Given the description of an element on the screen output the (x, y) to click on. 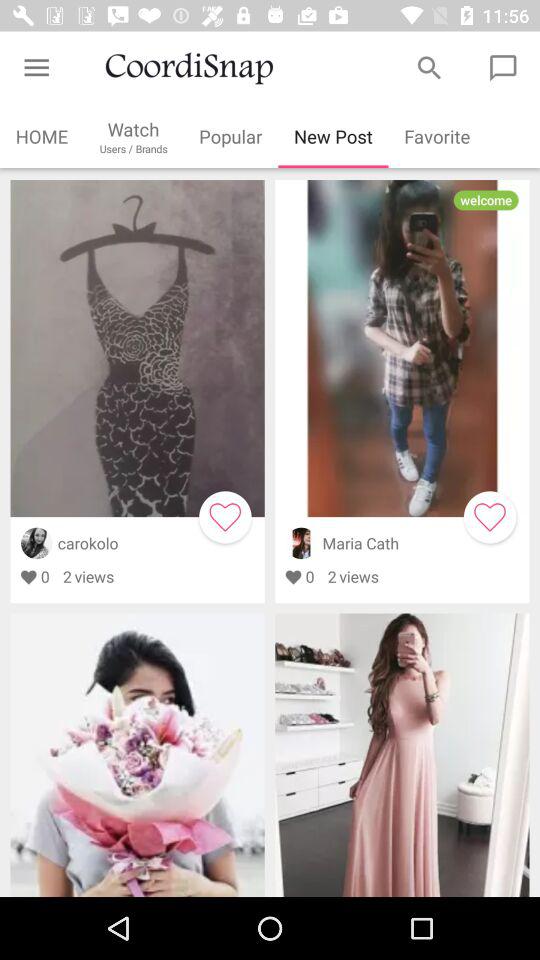
adding favorites (225, 517)
